Given the description of an element on the screen output the (x, y) to click on. 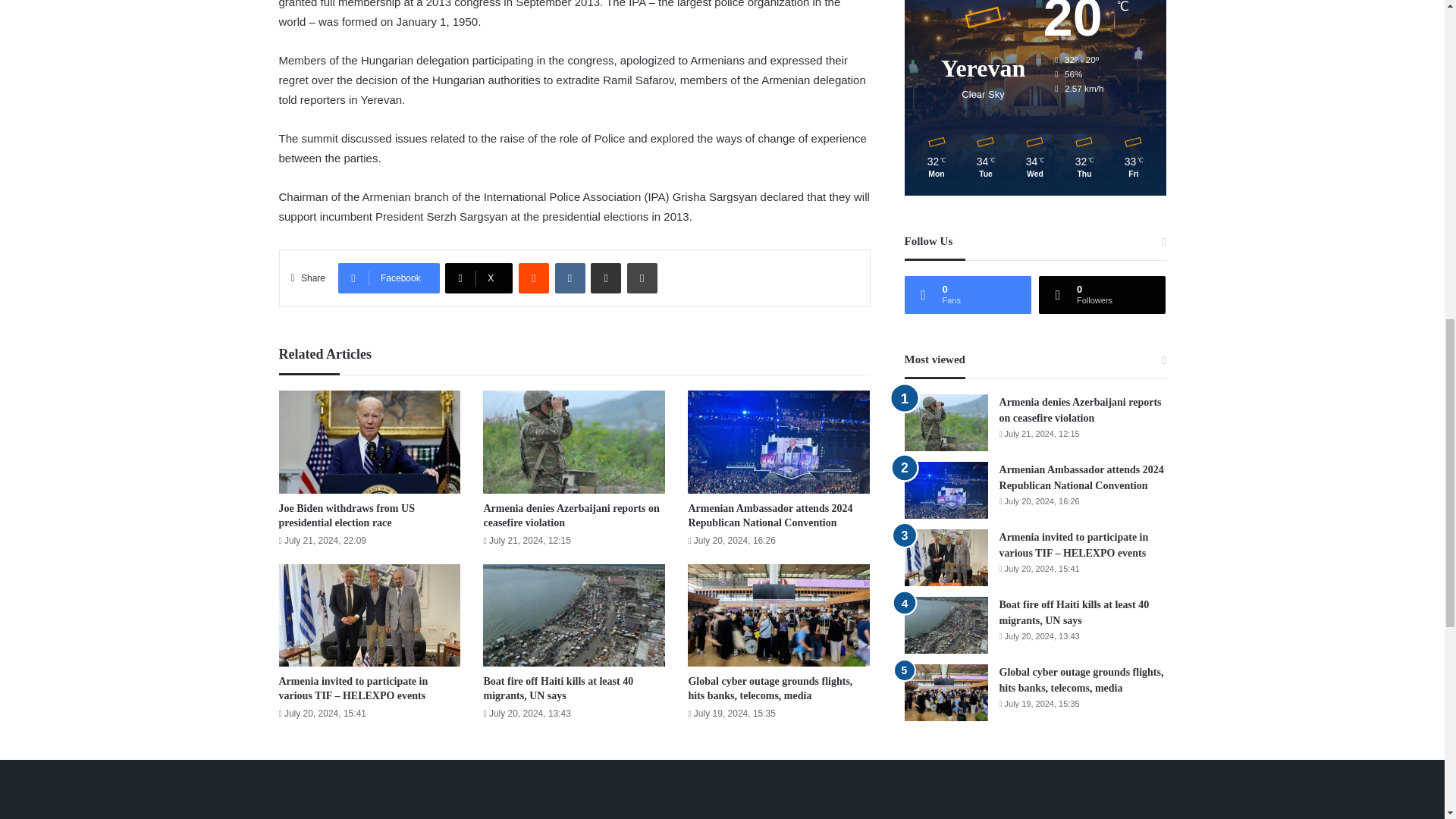
X (478, 277)
Share via Email (606, 277)
Print (642, 277)
Facebook (388, 277)
Facebook (388, 277)
Reddit (533, 277)
VKontakte (569, 277)
